Given the description of an element on the screen output the (x, y) to click on. 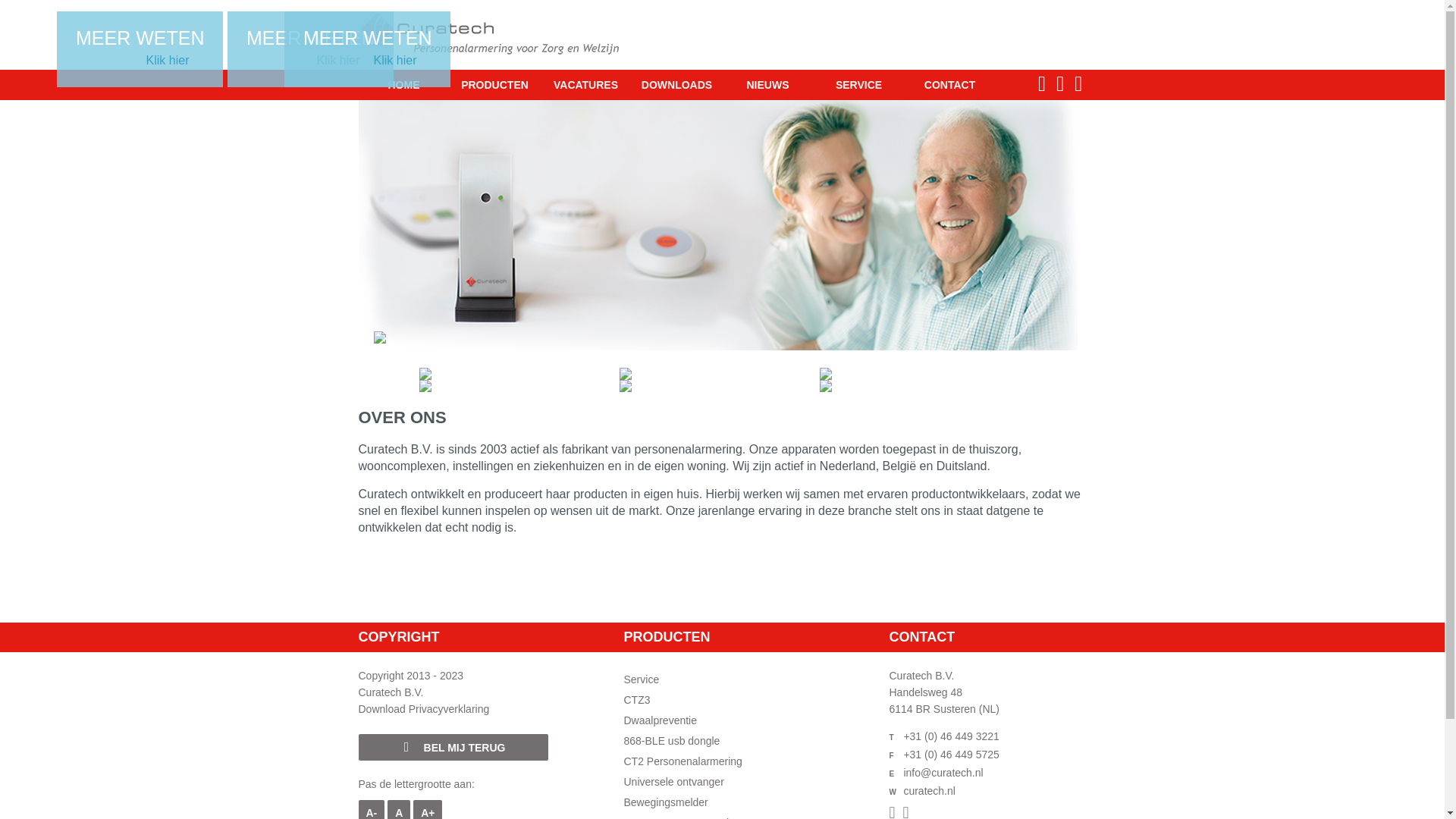
DOWNLOADS Element type: text (675, 84)
Download Privacyverklaring Element type: text (423, 708)
SERVICE Element type: text (857, 84)
HOME Element type: text (402, 84)
CTZ3 Element type: text (636, 699)
info@curatech.nl Element type: text (942, 772)
NIEUWS Element type: text (766, 84)
Bewegingsmelder Element type: text (665, 802)
curatech.nl Element type: text (928, 790)
VACATURES Element type: text (584, 84)
CT2 Personenalarmering Element type: text (682, 761)
CONTACT Element type: text (948, 84)
PRODUCTEN Element type: text (493, 84)
MEER WETEN
Klik hier Element type: text (367, 49)
Service Element type: text (640, 679)
MEER WETEN
Klik hier Element type: text (139, 49)
Dwaalpreventie Element type: text (659, 720)
MEER WETEN
Klik hier Element type: text (310, 49)
868-BLE usb dongle Element type: text (671, 740)
Universele ontvanger Element type: text (673, 781)
